Given the description of an element on the screen output the (x, y) to click on. 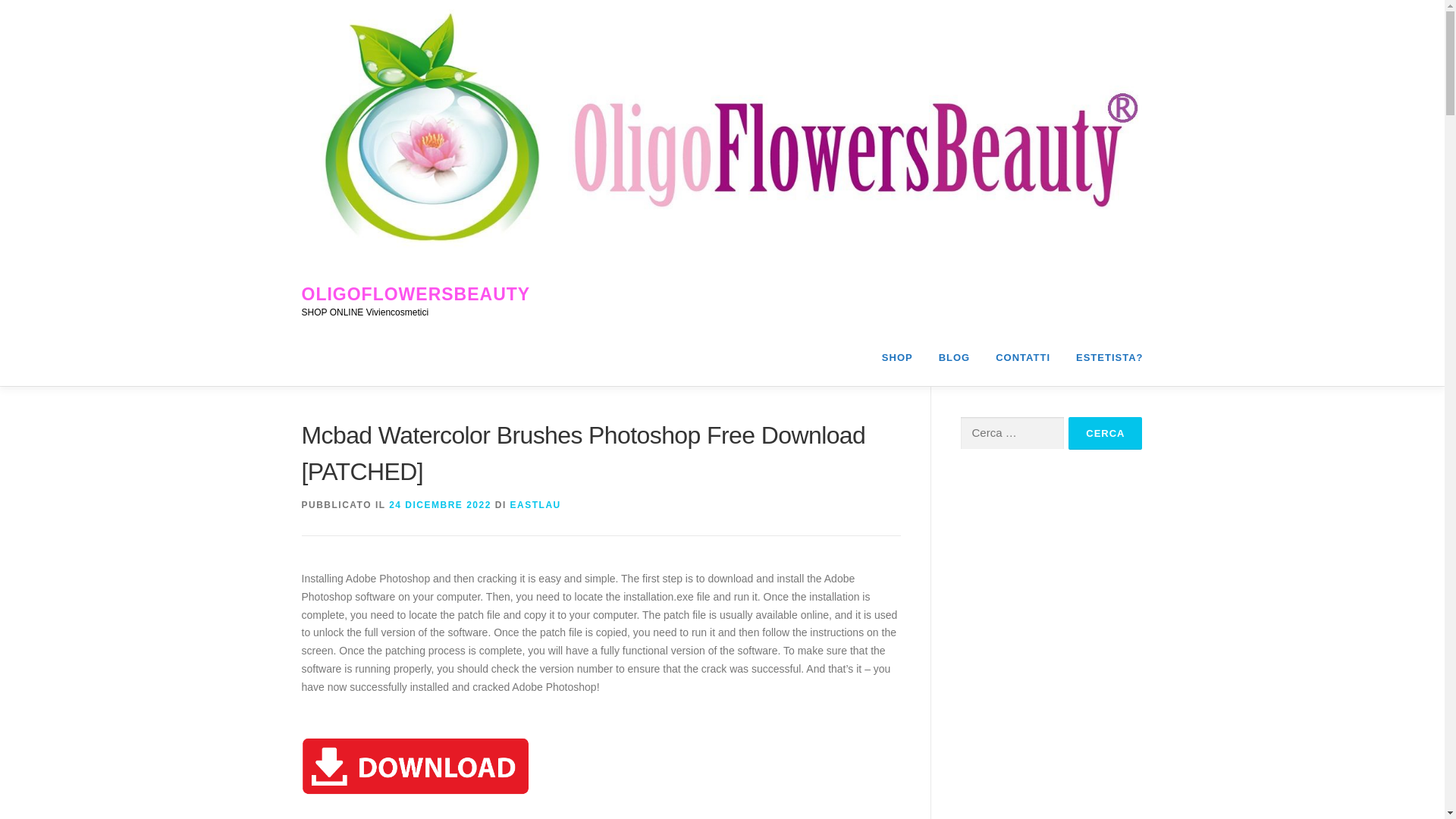
CONTATTI (1022, 357)
ESTETISTA? (1102, 357)
SHOP (897, 357)
Cerca (1104, 432)
24 DICEMBRE 2022 (440, 504)
OLIGOFLOWERSBEAUTY (416, 294)
EASTLAU (535, 504)
BLOG (955, 357)
Cerca (1104, 432)
